Given the description of an element on the screen output the (x, y) to click on. 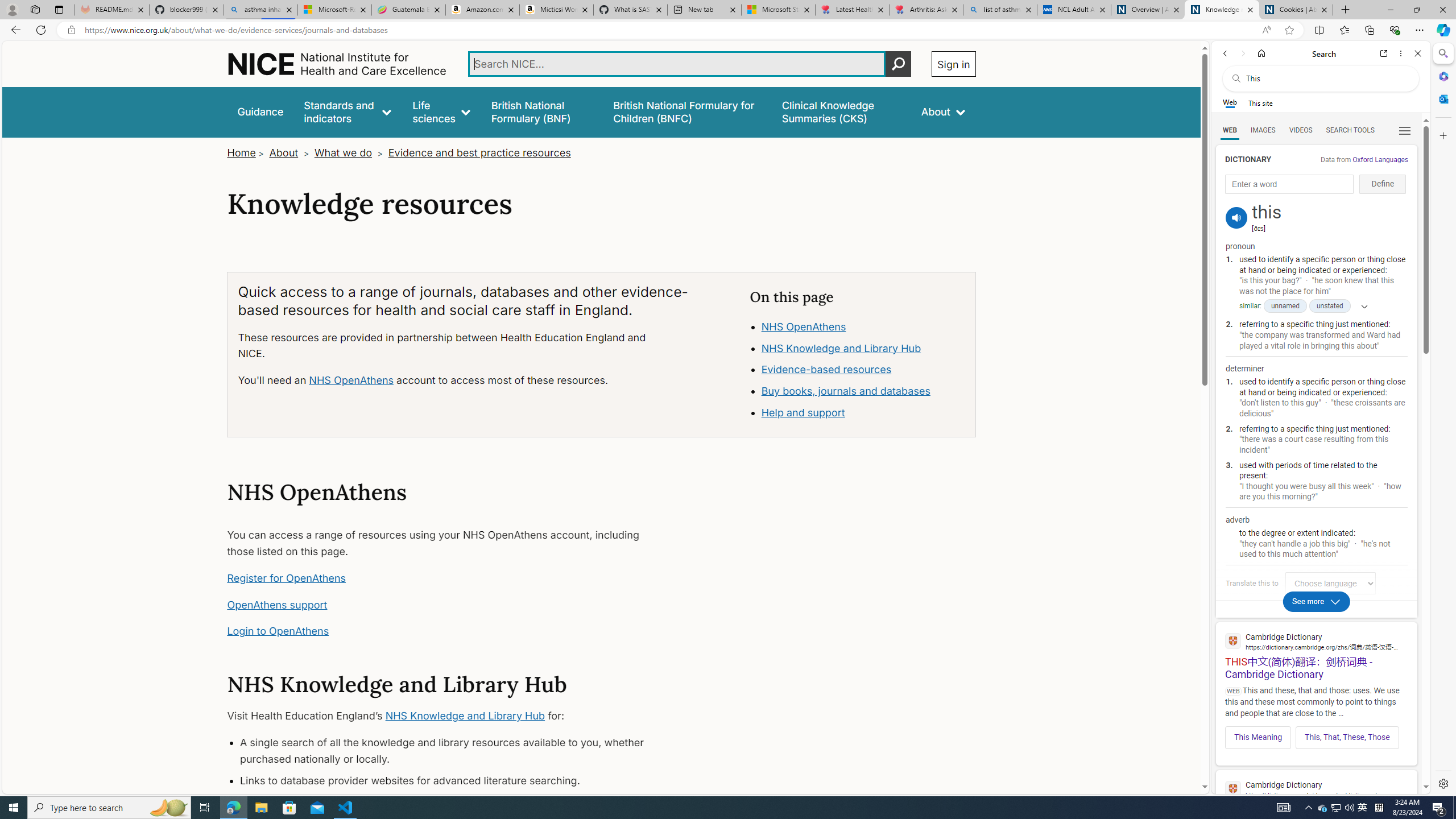
Login to OpenAthens (278, 630)
What we do (343, 152)
Cambridge Dictionary (1315, 788)
